Given the description of an element on the screen output the (x, y) to click on. 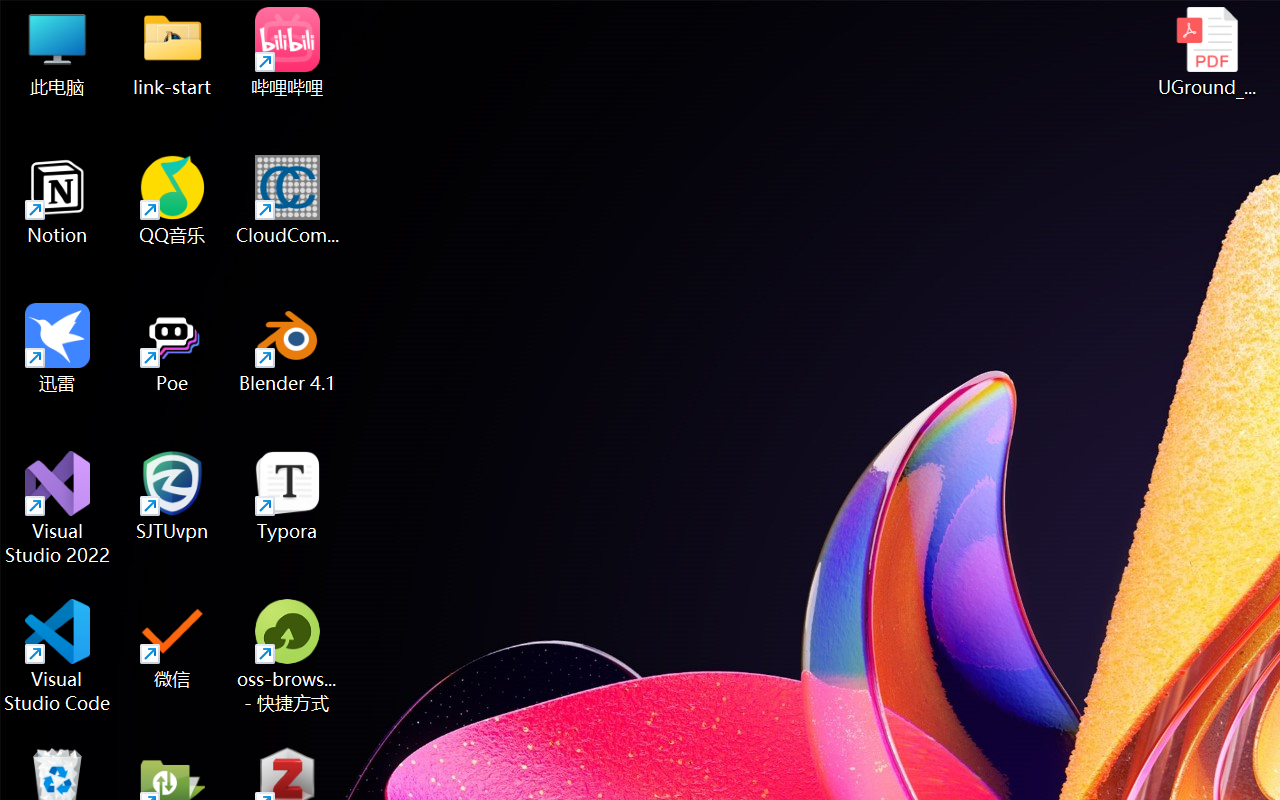
UGround_paper.pdf (1206, 52)
Typora (287, 496)
Blender 4.1 (287, 348)
SJTUvpn (172, 496)
CloudCompare (287, 200)
Visual Studio Code (57, 656)
Visual Studio 2022 (57, 508)
